Given the description of an element on the screen output the (x, y) to click on. 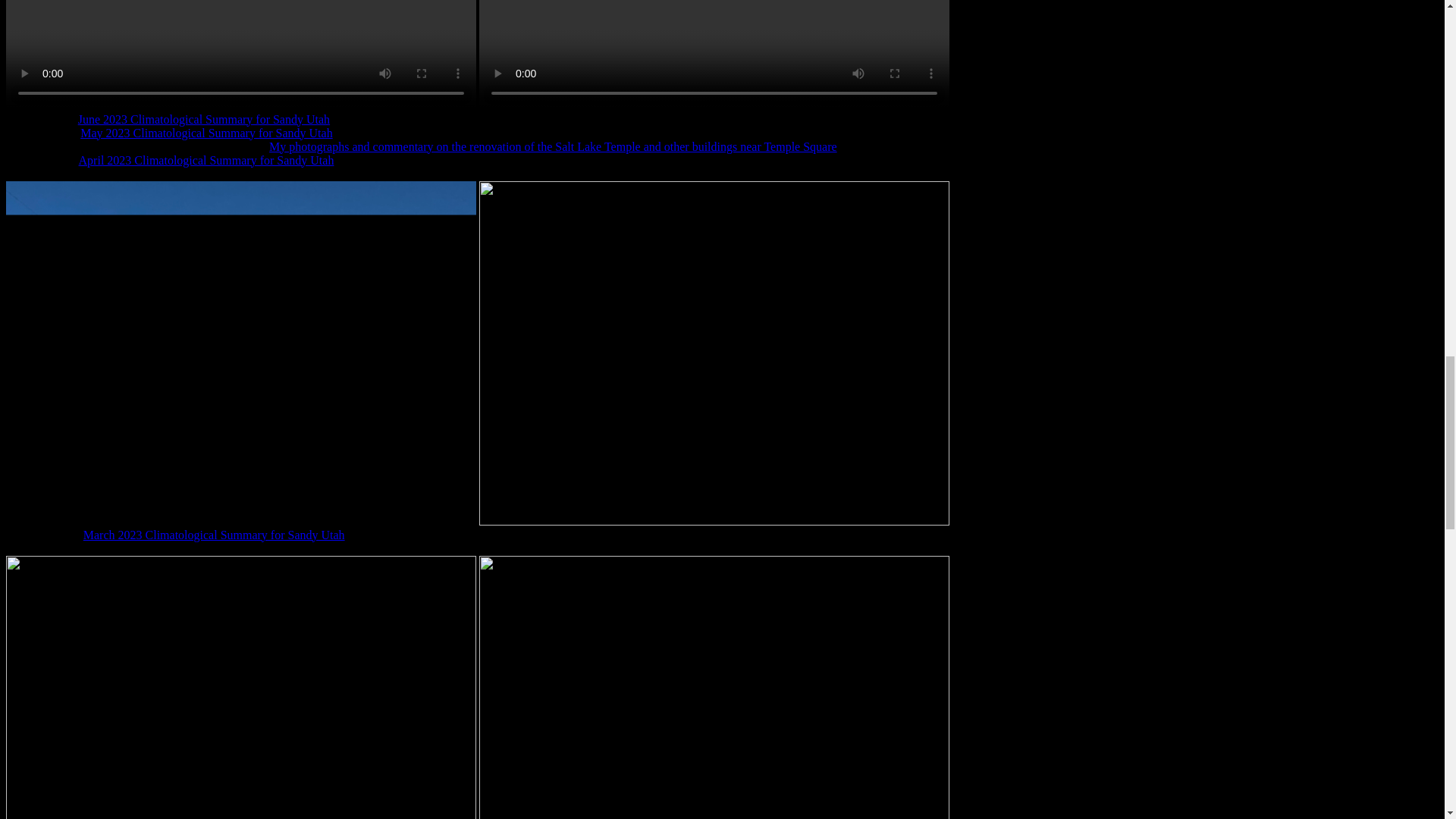
March 2023 Climatological Summary for Sandy Utah (213, 534)
April 2023 Climatological Summary for Sandy Utah (206, 160)
June 2023 Climatological Summary for Sandy Utah (204, 119)
May 2023 Climatological Summary for Sandy Utah (205, 132)
